Given the description of an element on the screen output the (x, y) to click on. 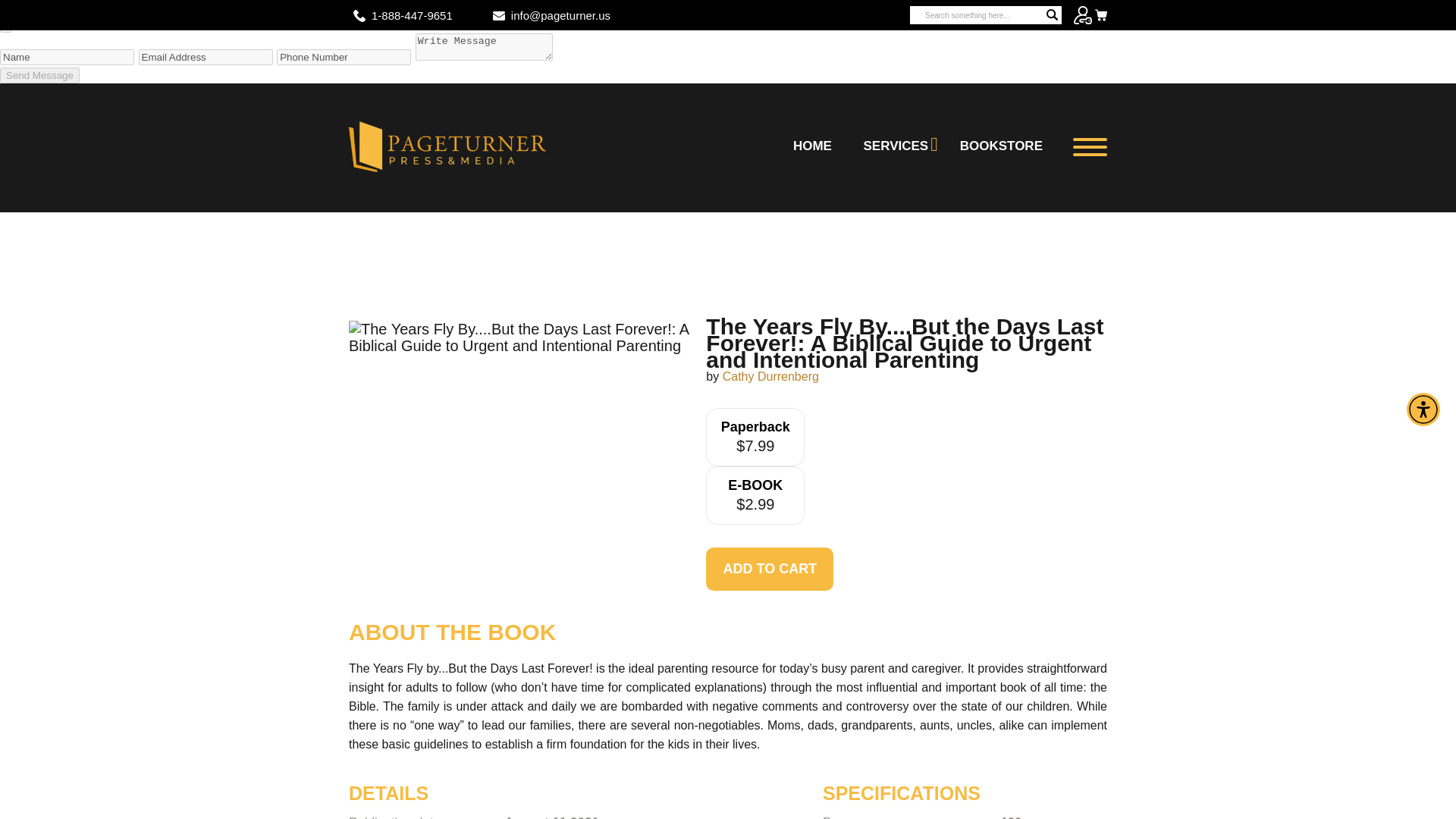
ADD TO CART (769, 568)
Send Message (40, 75)
1-888-447-9651 (411, 15)
Cathy Durrenberg (770, 376)
SERVICES (896, 145)
Login (1083, 14)
HOME (812, 145)
Accessibility Menu (1422, 409)
BOOKSTORE (1001, 145)
